Given the description of an element on the screen output the (x, y) to click on. 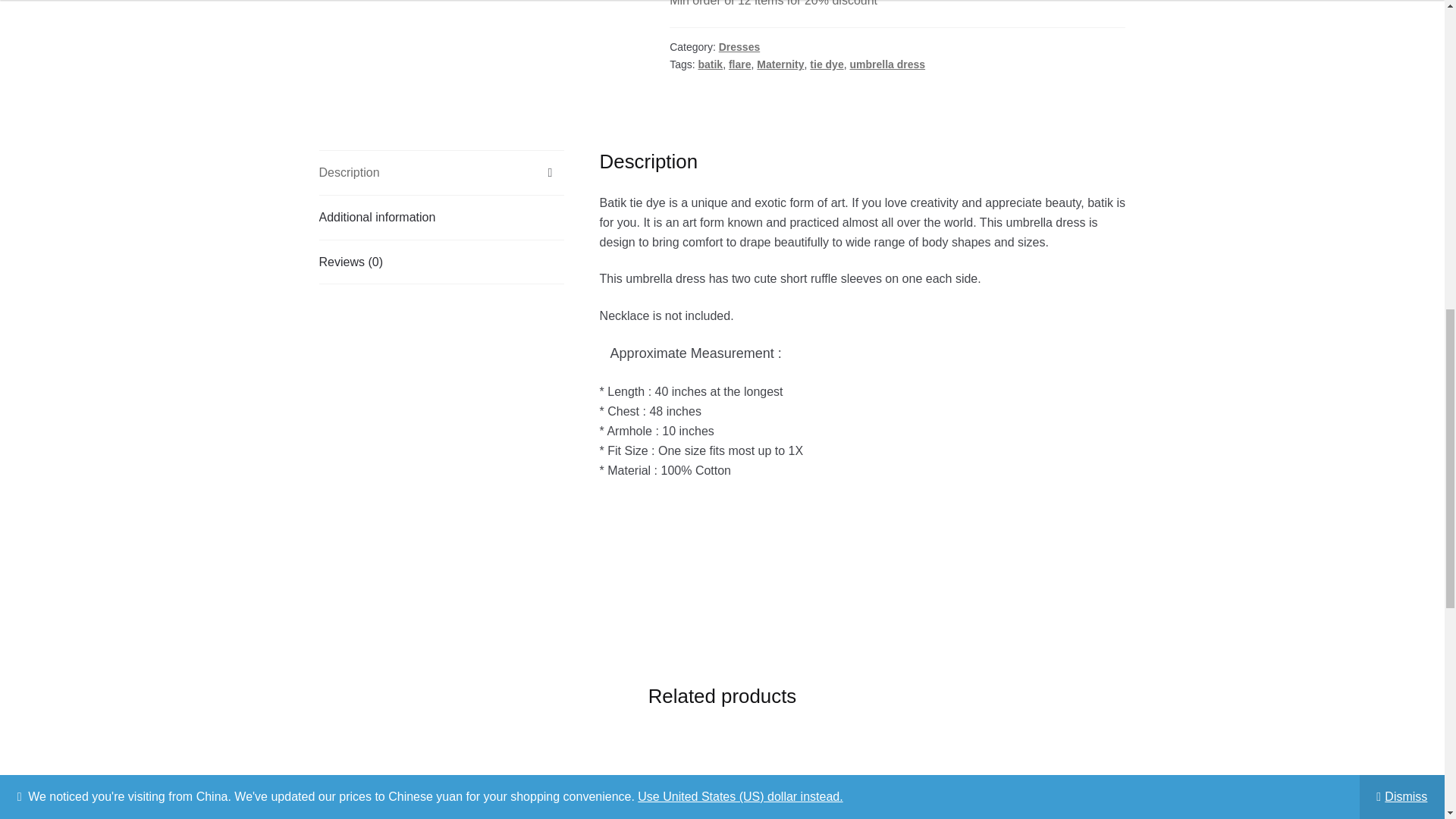
Dresses (739, 46)
tie dye (826, 64)
Description (441, 172)
Additional information (441, 217)
flare (740, 64)
umbrella dress (886, 64)
batik (709, 64)
Maternity (780, 64)
